Given the description of an element on the screen output the (x, y) to click on. 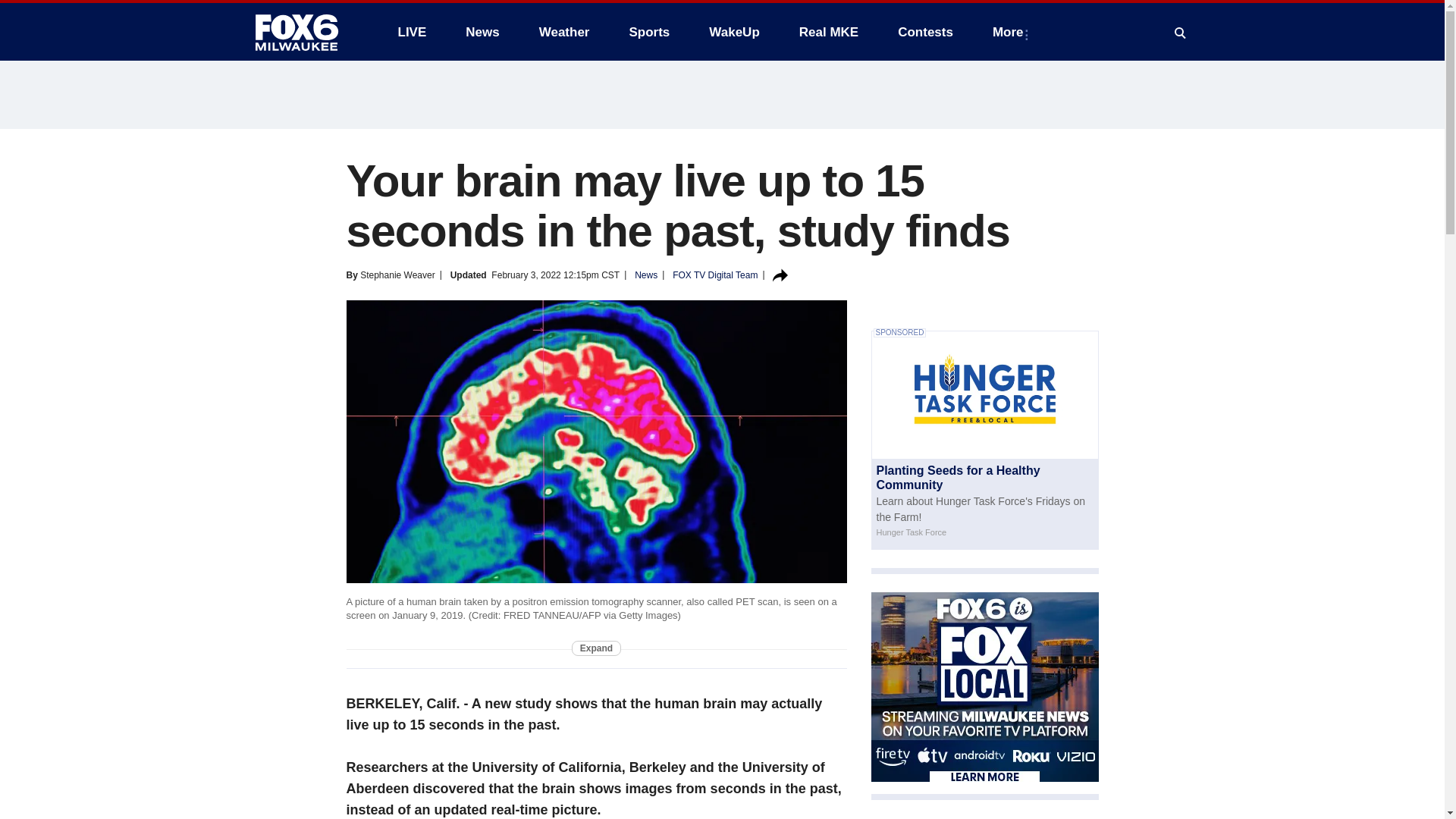
Sports (648, 32)
LIVE (411, 32)
Weather (564, 32)
More (1010, 32)
Real MKE (828, 32)
WakeUp (734, 32)
Contests (925, 32)
News (481, 32)
